Given the description of an element on the screen output the (x, y) to click on. 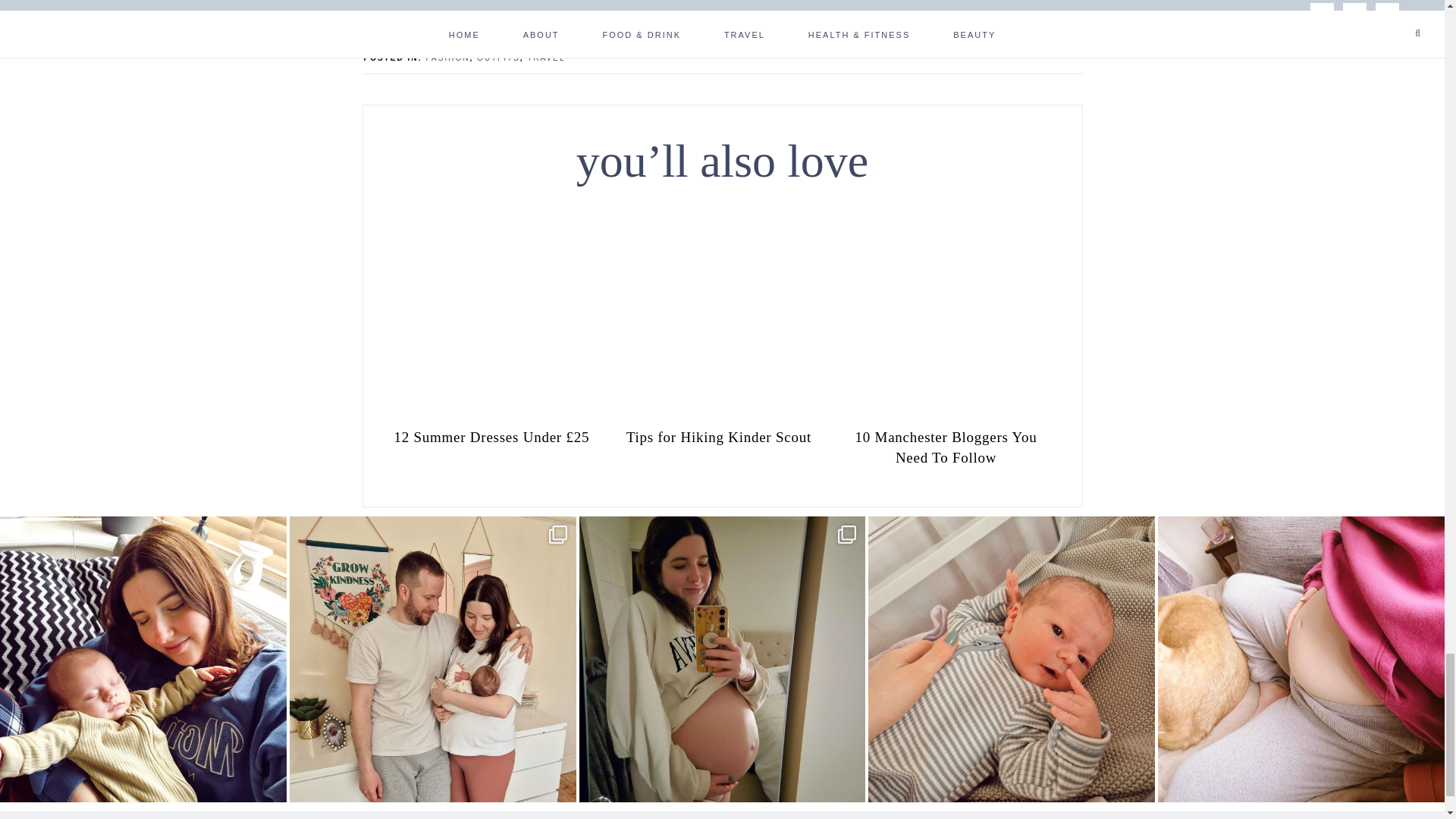
10 Manchester Bloggers You Need To Follow (946, 445)
Permanent Link to Tips for Hiking Kinder Scout (719, 435)
FASHION (448, 58)
Permanent Link to 10 Manchester Bloggers You Need To Follow (946, 445)
TRAVEL (545, 58)
Permanent Link to 10 Manchester Bloggers You Need To Follow (946, 412)
Tips for Hiking Kinder Scout (719, 435)
OUTFITS (498, 58)
Permanent Link to Tips for Hiking Kinder Scout (719, 412)
